Given the description of an element on the screen output the (x, y) to click on. 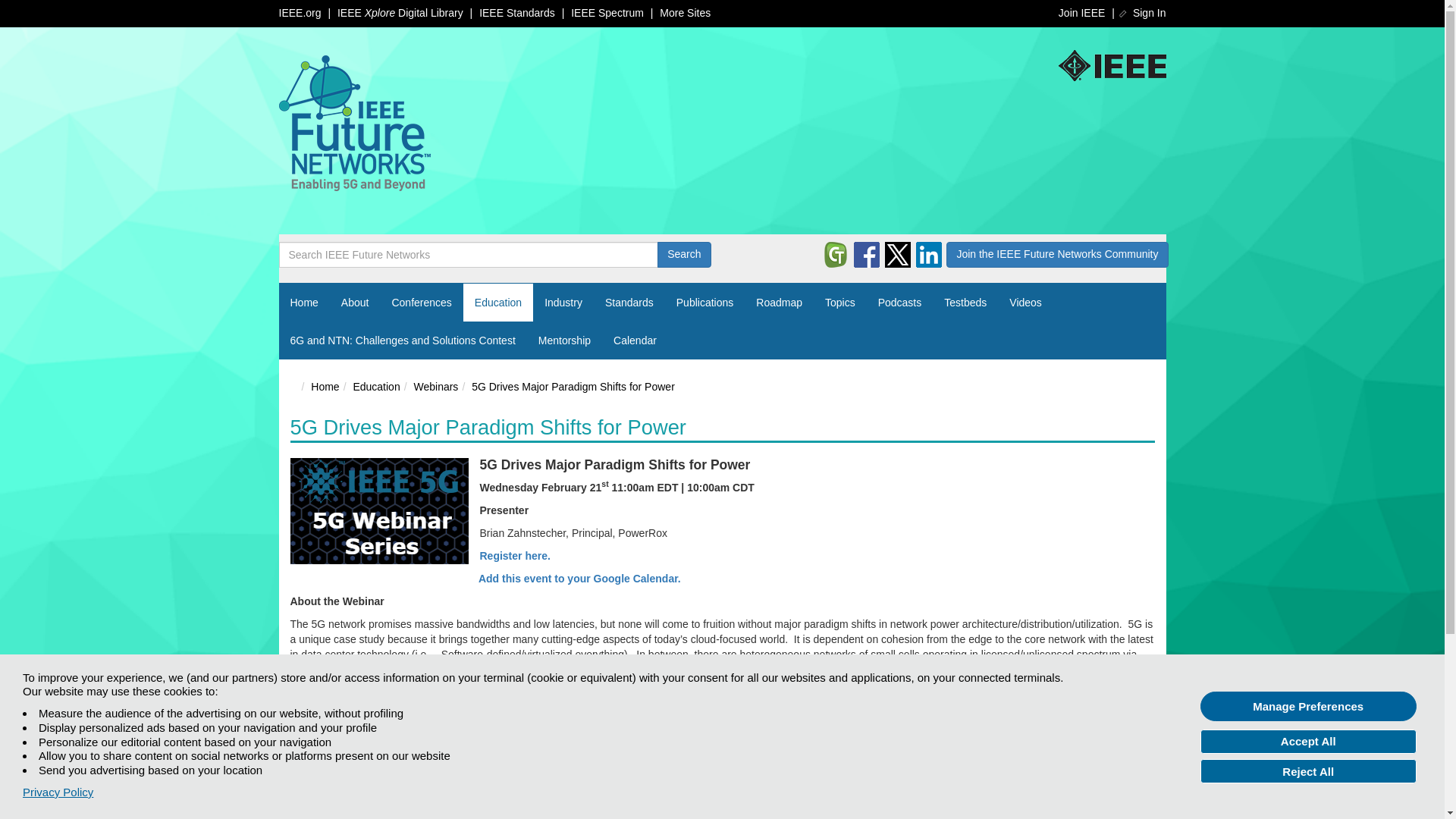
Facebook (866, 254)
Search (684, 254)
Manage Preferences (1307, 706)
Join IEEE (1081, 12)
IEEE Spectrum (606, 12)
More Sites (684, 12)
Education (497, 302)
IEEE Standards (516, 12)
About (355, 302)
Join the IEEE Future Networks Community (1056, 254)
Collabratec (835, 254)
LinkedIn (928, 254)
Twitter (898, 254)
Reject All (1307, 770)
IEEE.org (300, 12)
